Given the description of an element on the screen output the (x, y) to click on. 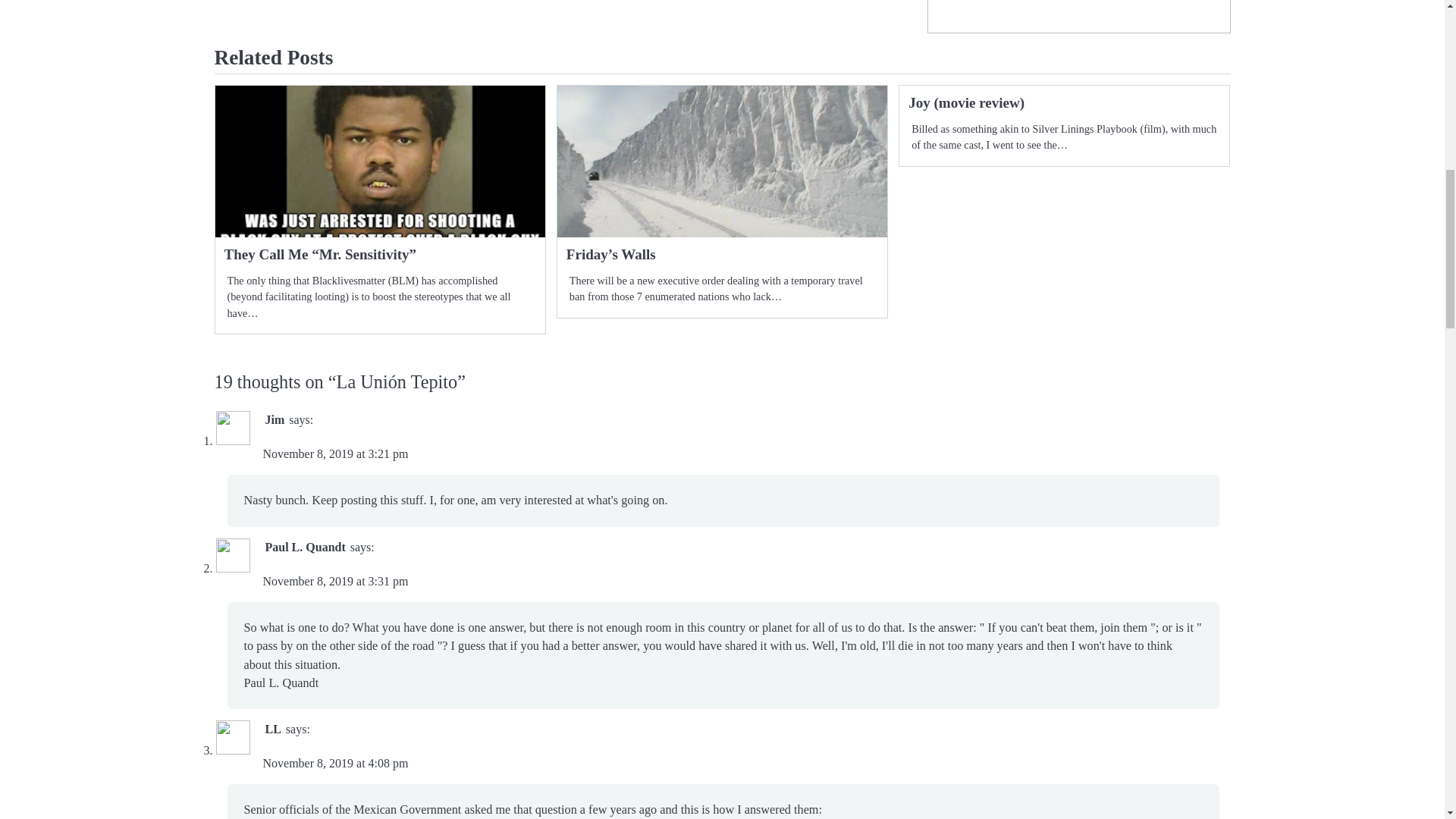
November 8, 2019 at 4:08 pm (334, 762)
November 8, 2019 at 3:21 pm (334, 453)
November 8, 2019 at 3:31 pm (334, 581)
